Given the description of an element on the screen output the (x, y) to click on. 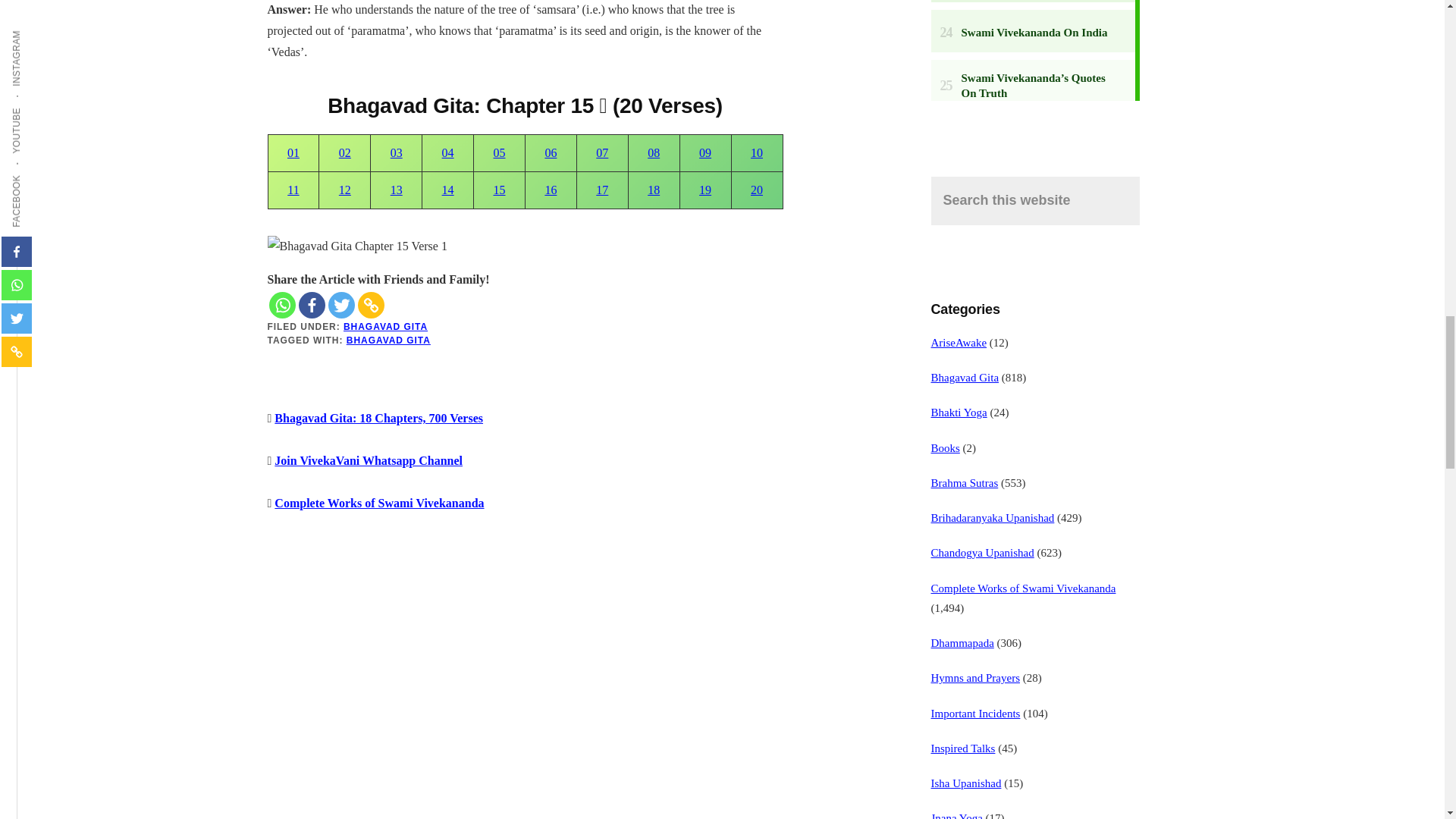
01 (292, 152)
Whatsapp (281, 304)
Facebook (311, 304)
Copy Link (371, 304)
Twitter (340, 304)
